Given the description of an element on the screen output the (x, y) to click on. 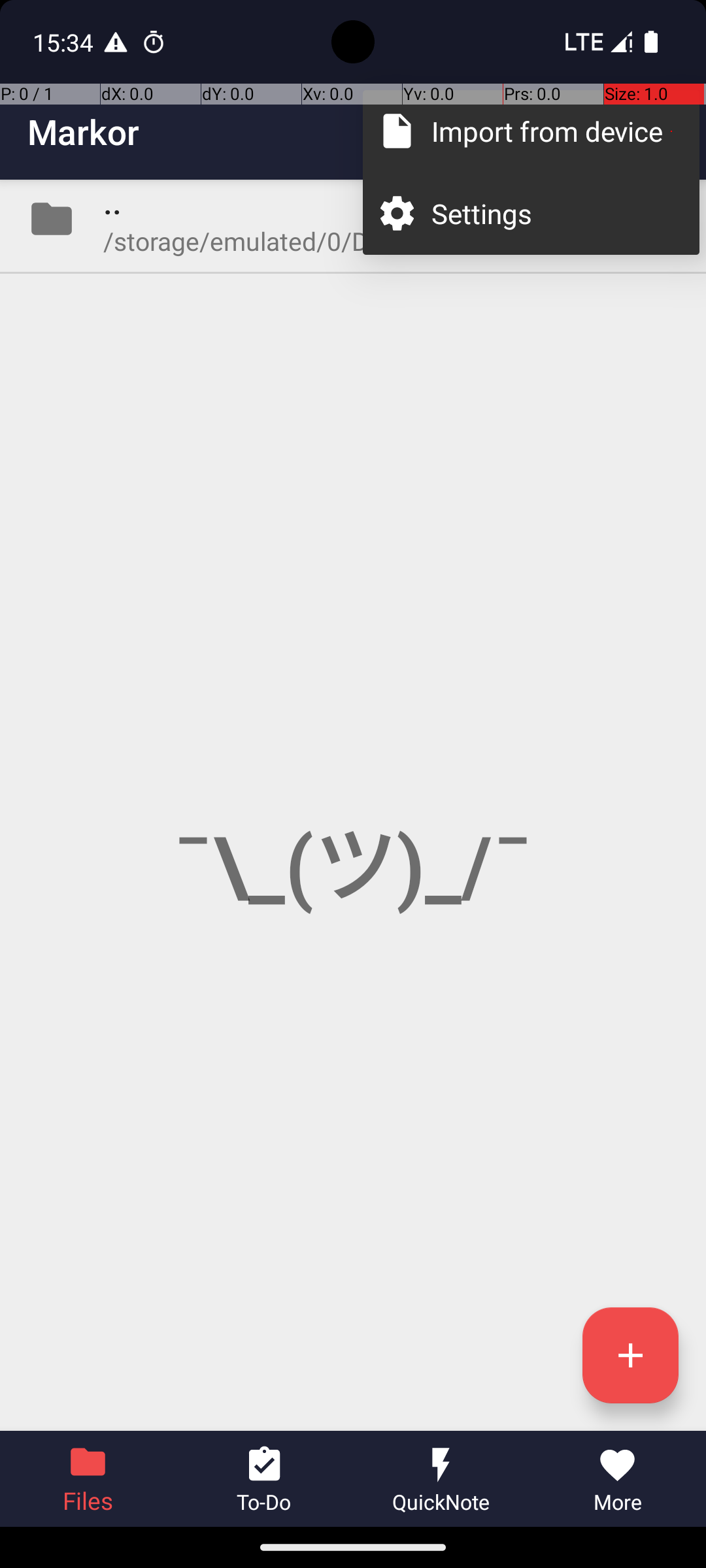
Import from device Element type: android.widget.TextView (551, 130)
